Given the description of an element on the screen output the (x, y) to click on. 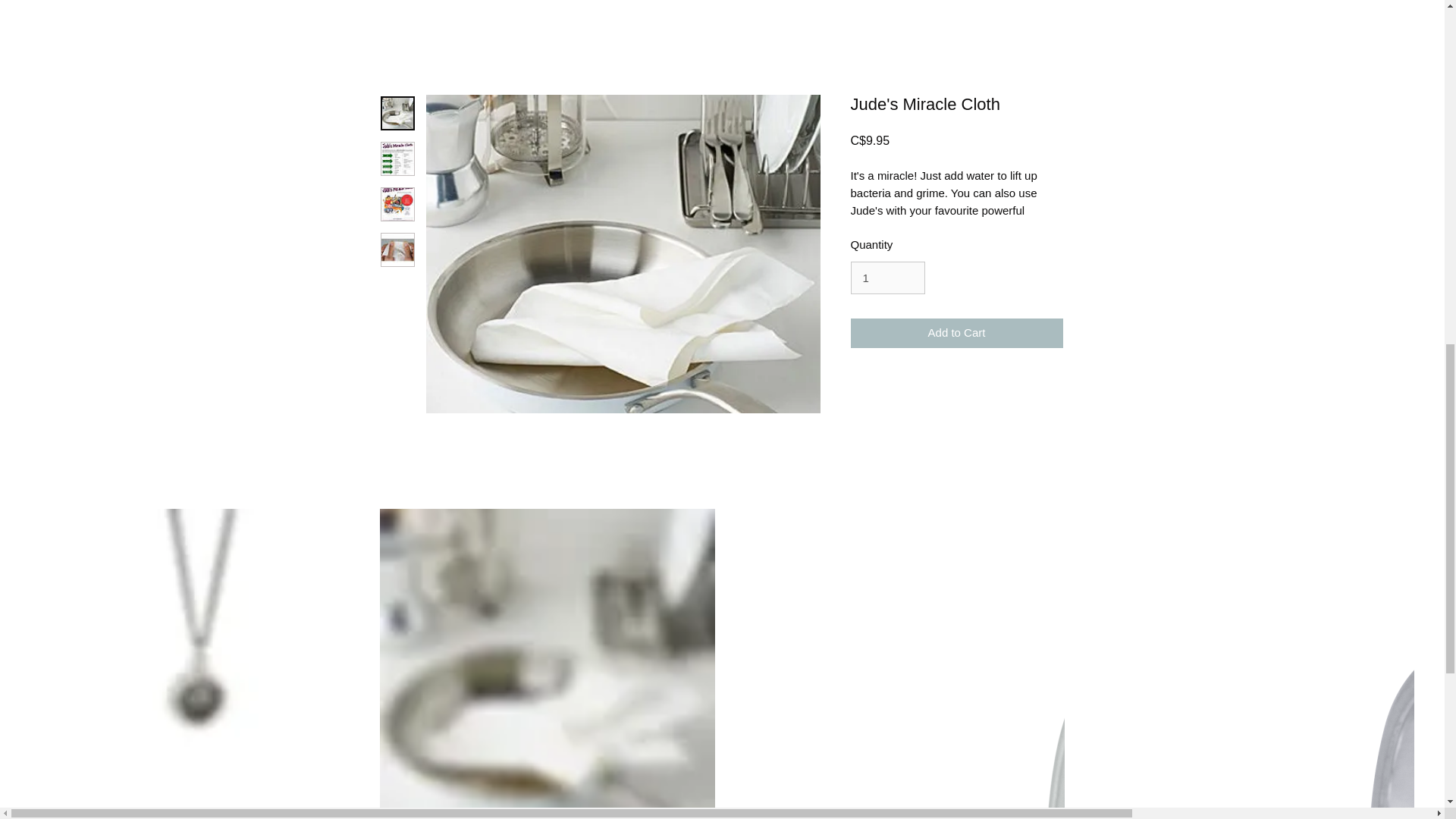
Add to Cart (956, 333)
1 (887, 277)
